Given the description of an element on the screen output the (x, y) to click on. 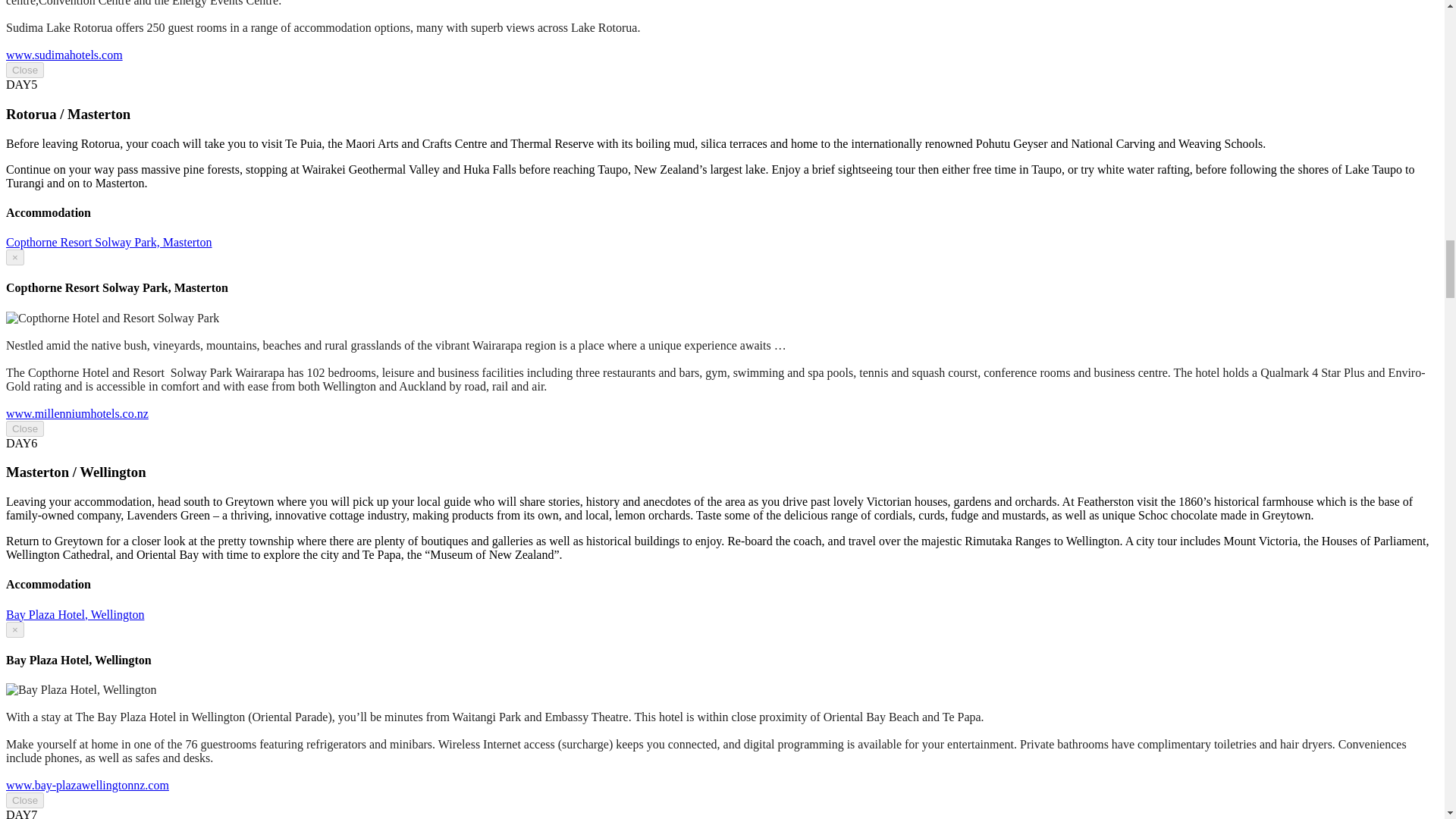
Copthorne Resort Solway Park  (76, 413)
Sudima Hotel (63, 54)
Bay Plaza Hotel (86, 784)
